Given the description of an element on the screen output the (x, y) to click on. 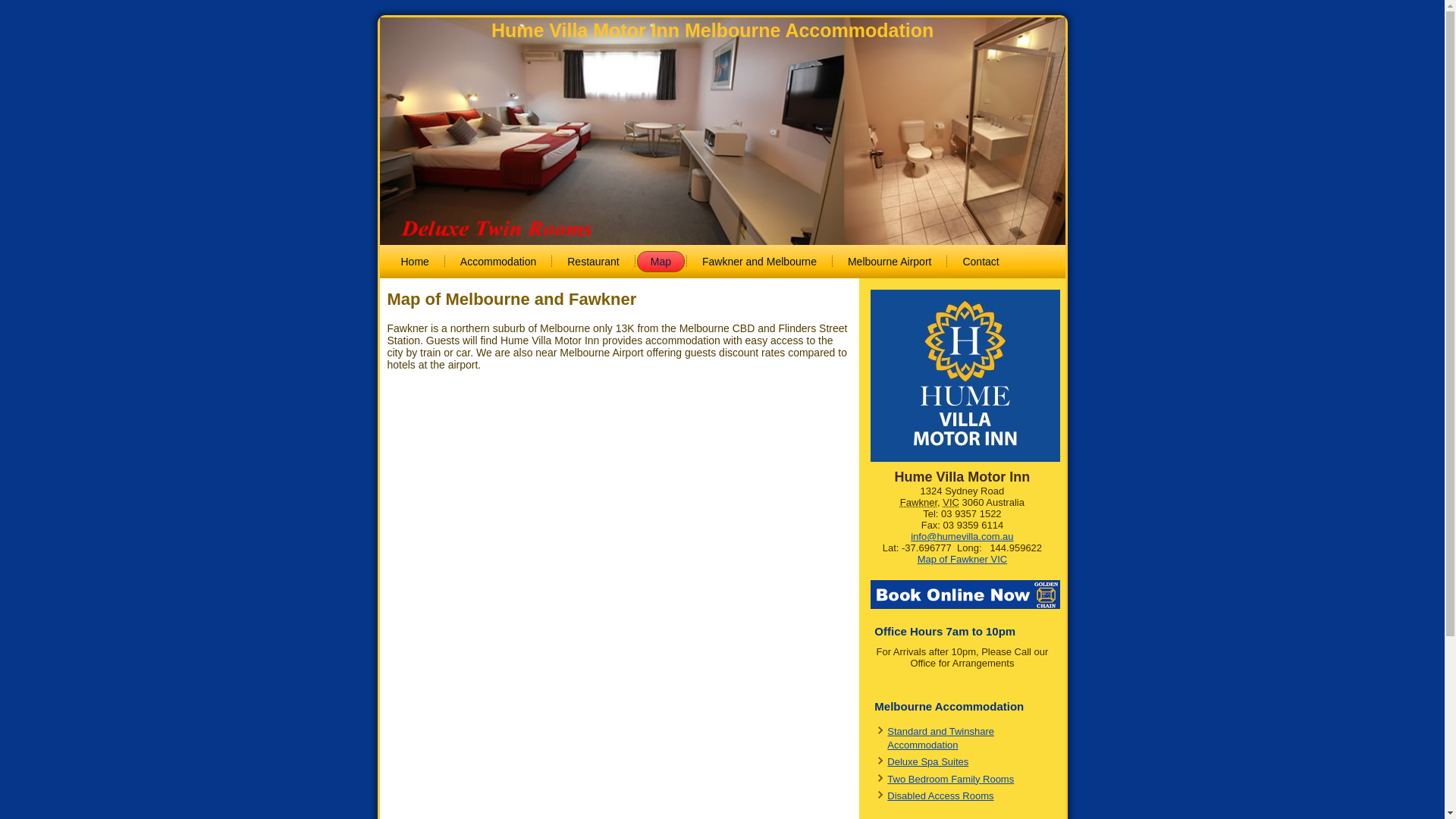
Deluxe Spa Suites Element type: text (927, 761)
1 Element type: text (695, 264)
info@humevilla.com.au Element type: text (961, 536)
Two Bedroom Family Rooms Element type: text (950, 778)
3 Element type: text (730, 264)
4 Element type: text (748, 264)
Standard and Twinshare Accommodation Element type: text (940, 737)
Home Element type: text (414, 261)
Deluxe Twin Room Element type: hover (721, 132)
Disabled Access Rooms Element type: text (940, 795)
Fawkner and Melbourne Element type: text (759, 261)
Hume Villa Motor Inn Melbourne Accommodation Element type: text (712, 29)
2 Element type: text (713, 264)
Contact Element type: text (980, 261)
Restaurant Element type: text (592, 261)
Melbourne Airport Element type: text (889, 261)
Accommodation Element type: text (497, 261)
Map of Fawkner VIC Element type: text (962, 558)
Map Element type: text (660, 261)
